Given the description of an element on the screen output the (x, y) to click on. 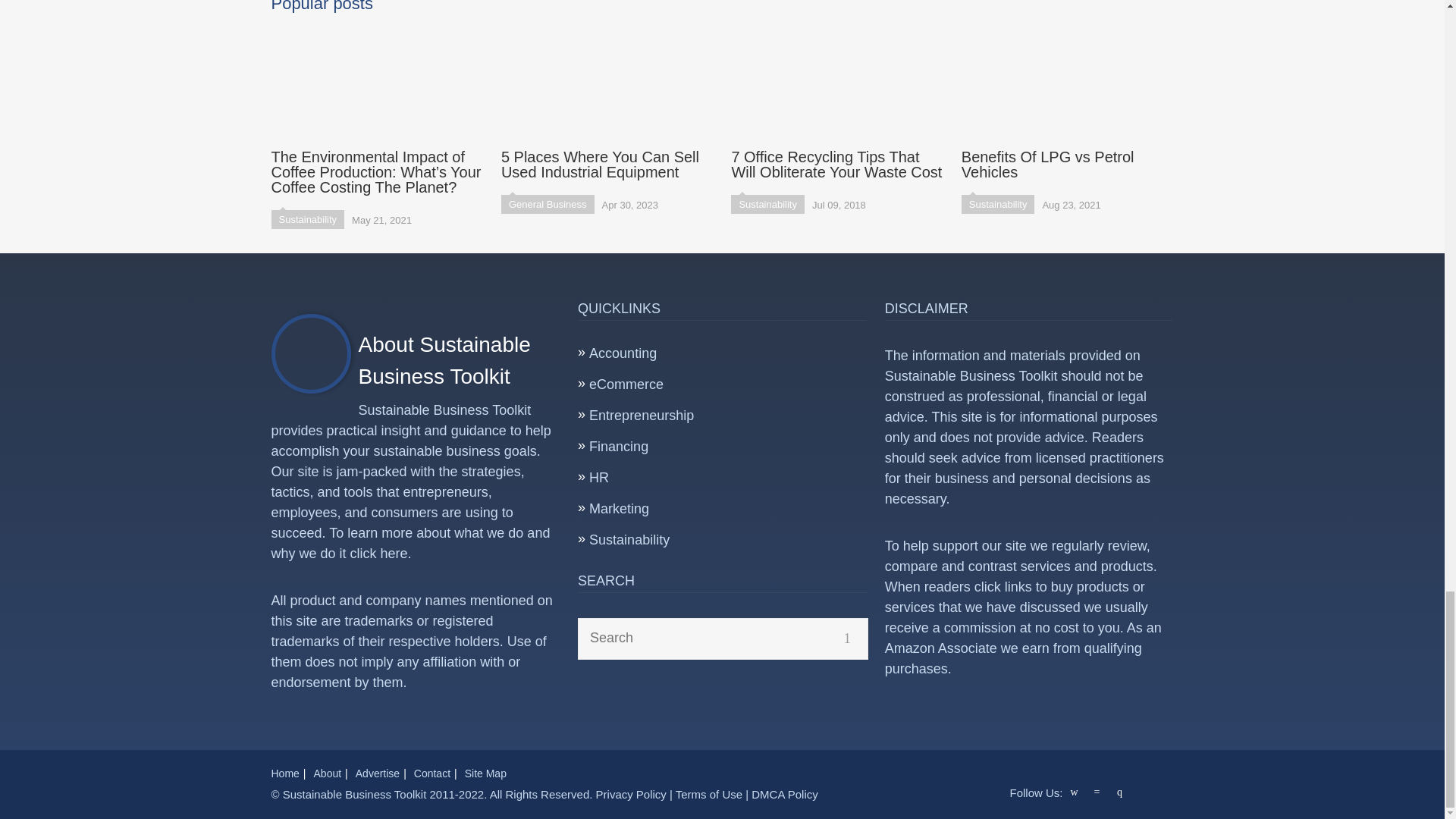
7 Office Recycling Tips That Will Obliterate Your Waste Cost (836, 101)
5 Places Where You Can Sell Used Industrial Equipment (606, 101)
Benefits Of LPG vs Petrol Vehicles (1066, 101)
Sustainability (767, 203)
General Business (547, 203)
Sustainability (307, 219)
